Given the description of an element on the screen output the (x, y) to click on. 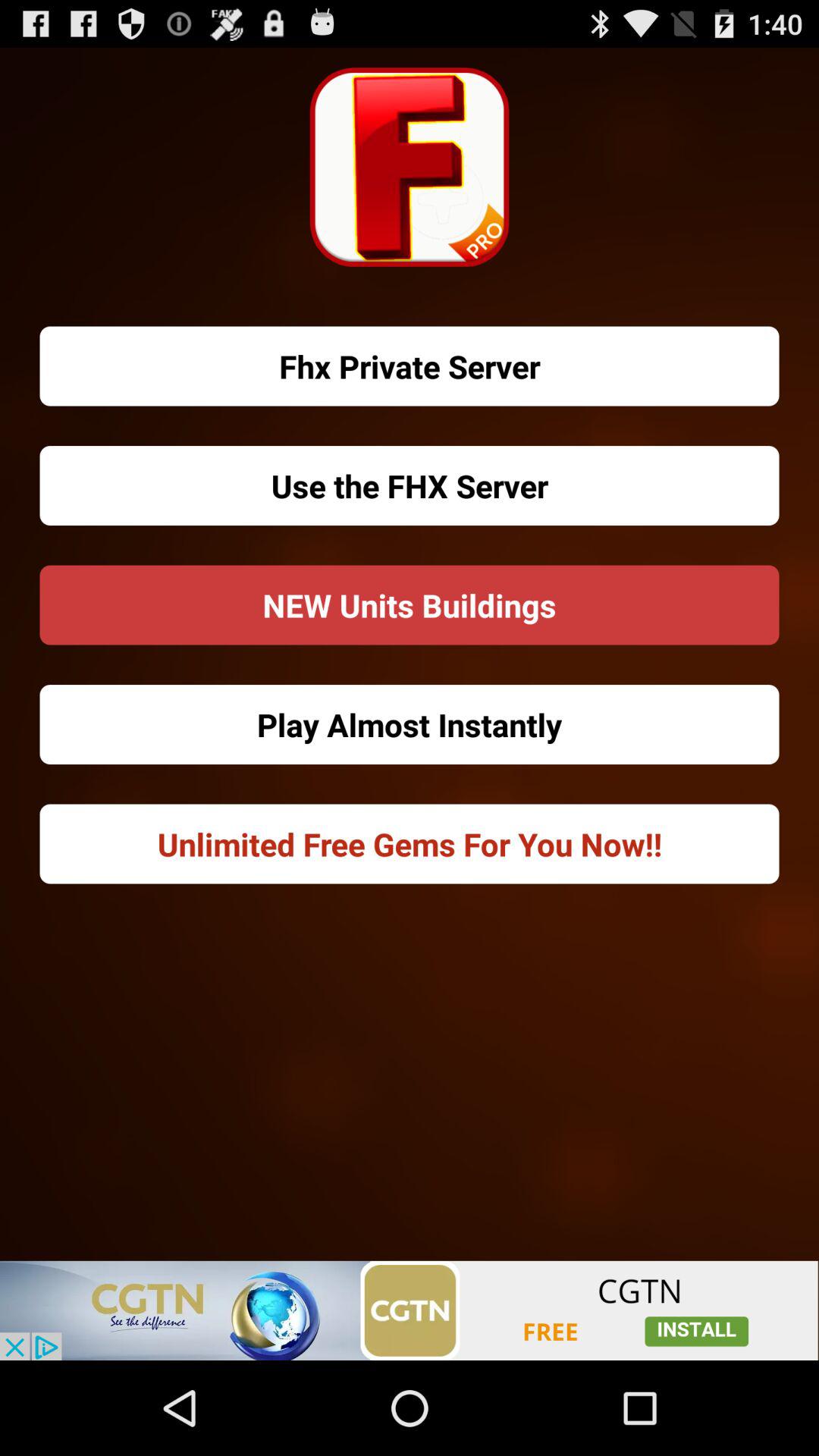
visit cgtn website (409, 1310)
